Given the description of an element on the screen output the (x, y) to click on. 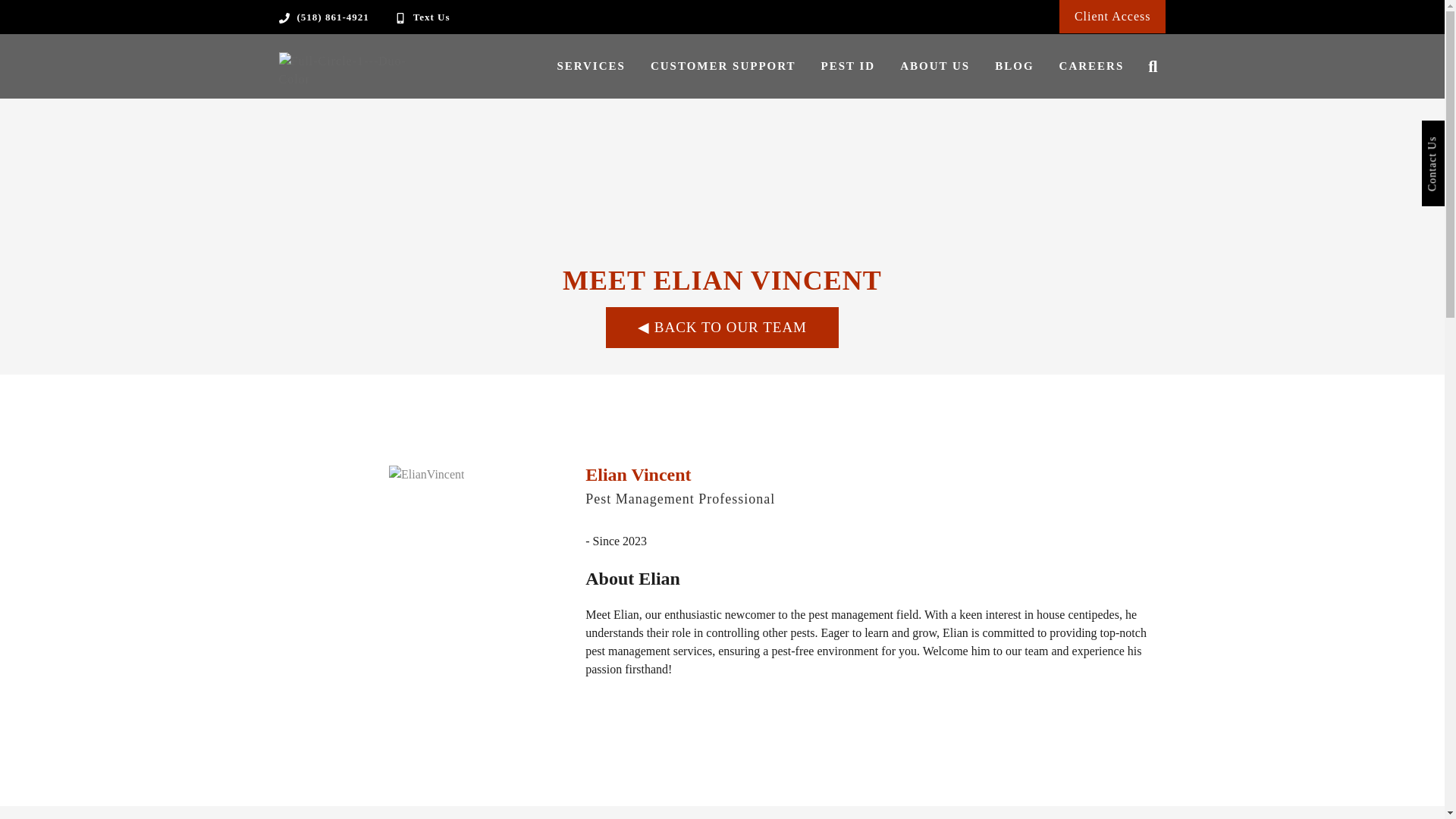
Client Access (1112, 15)
ElianVincent (426, 475)
Full-Circle-1---Duo-Color (354, 70)
Text Us (431, 16)
